Given the description of an element on the screen output the (x, y) to click on. 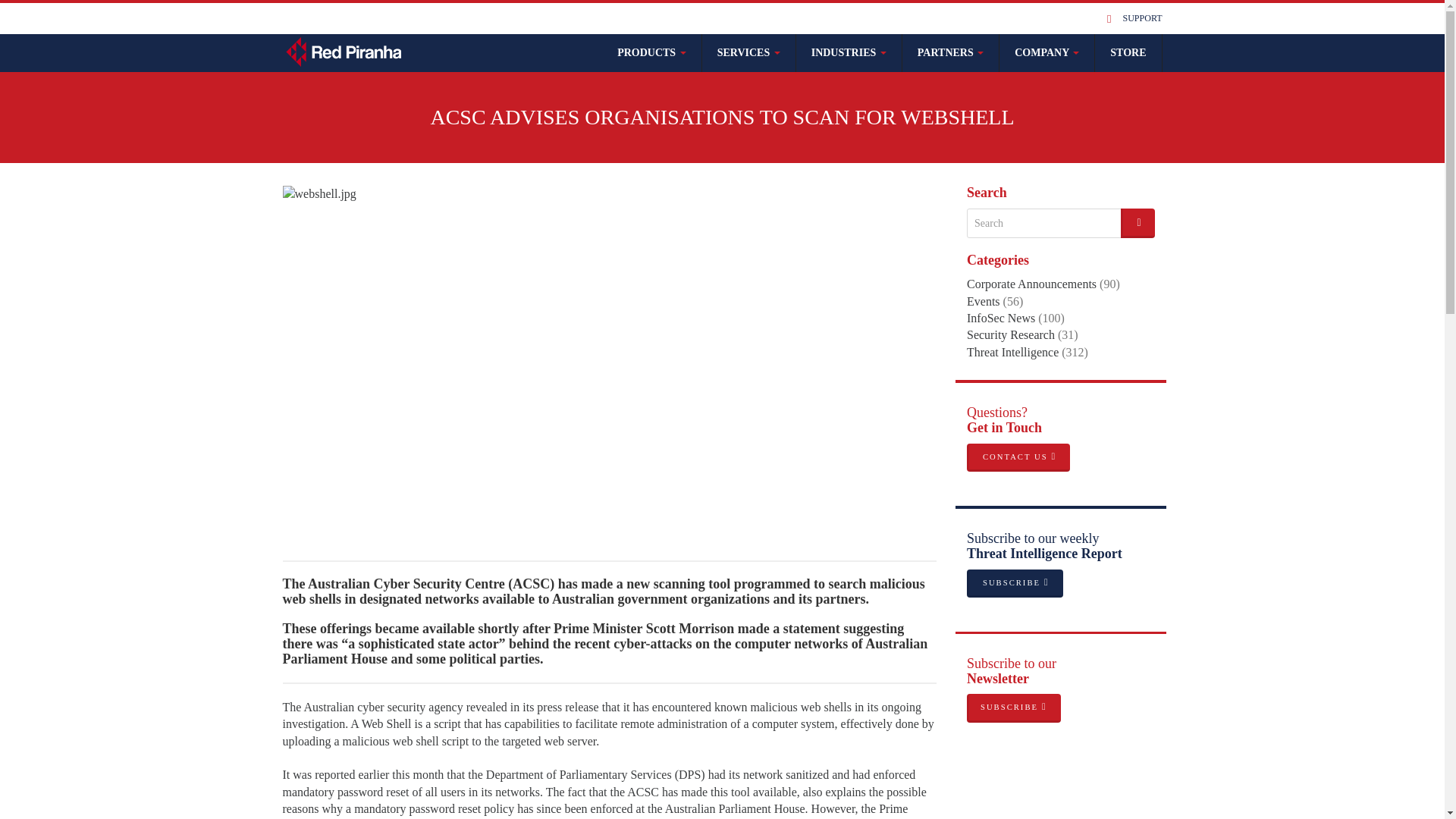
PRODUCTS (651, 53)
Home (344, 50)
SUPPORT (1142, 17)
PARTNERS (950, 53)
Enter the terms you wish to search for. (1043, 223)
SERVICES (748, 53)
COMPANY (1046, 53)
